Given the description of an element on the screen output the (x, y) to click on. 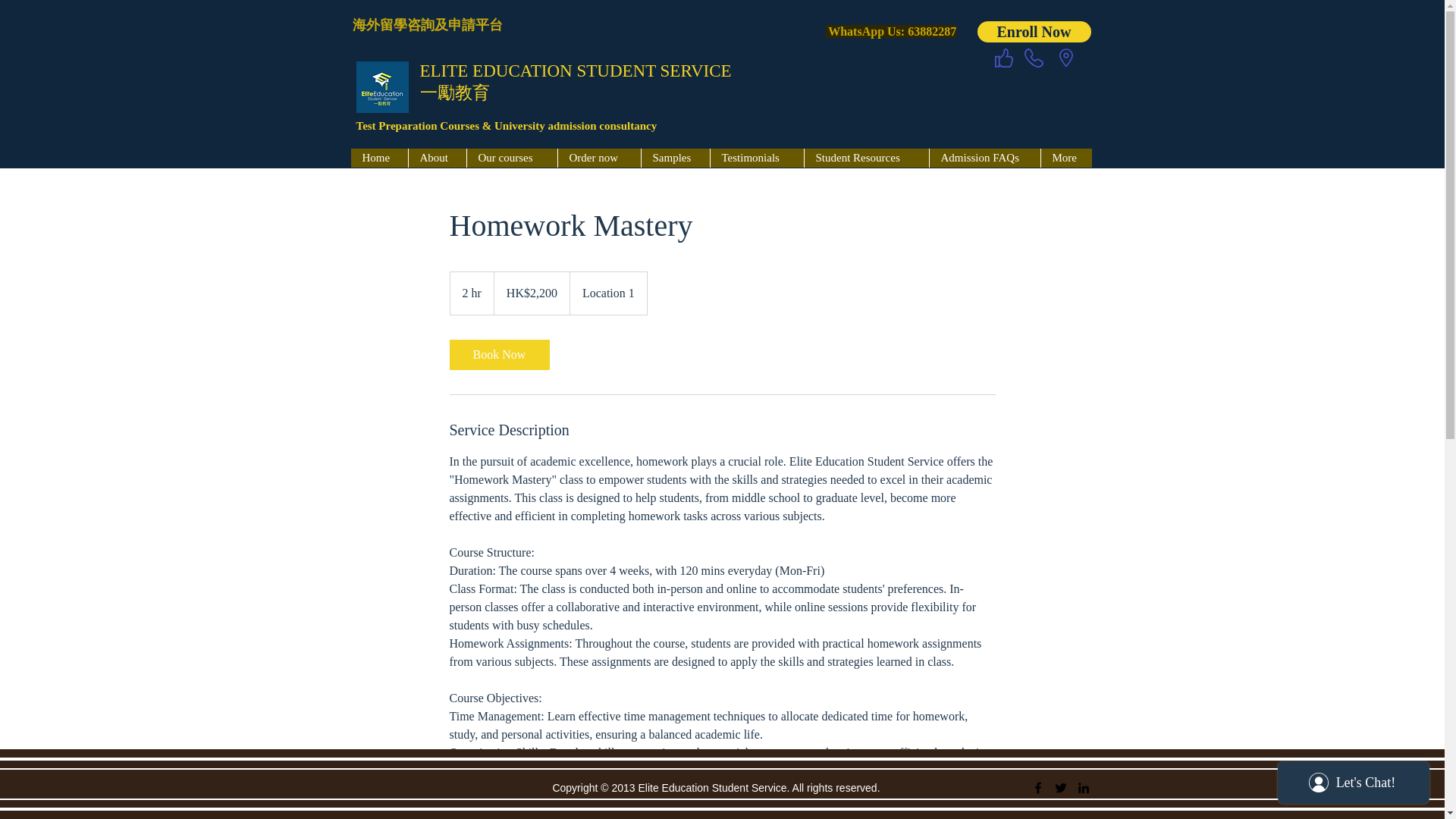
Testimonials (756, 157)
Enroll Now (1033, 31)
Site Search (1014, 99)
Samples (674, 157)
About (436, 157)
Order now (598, 157)
Home (378, 157)
Student Resources (865, 157)
Admission FAQs (983, 157)
Our courses (510, 157)
